Given the description of an element on the screen output the (x, y) to click on. 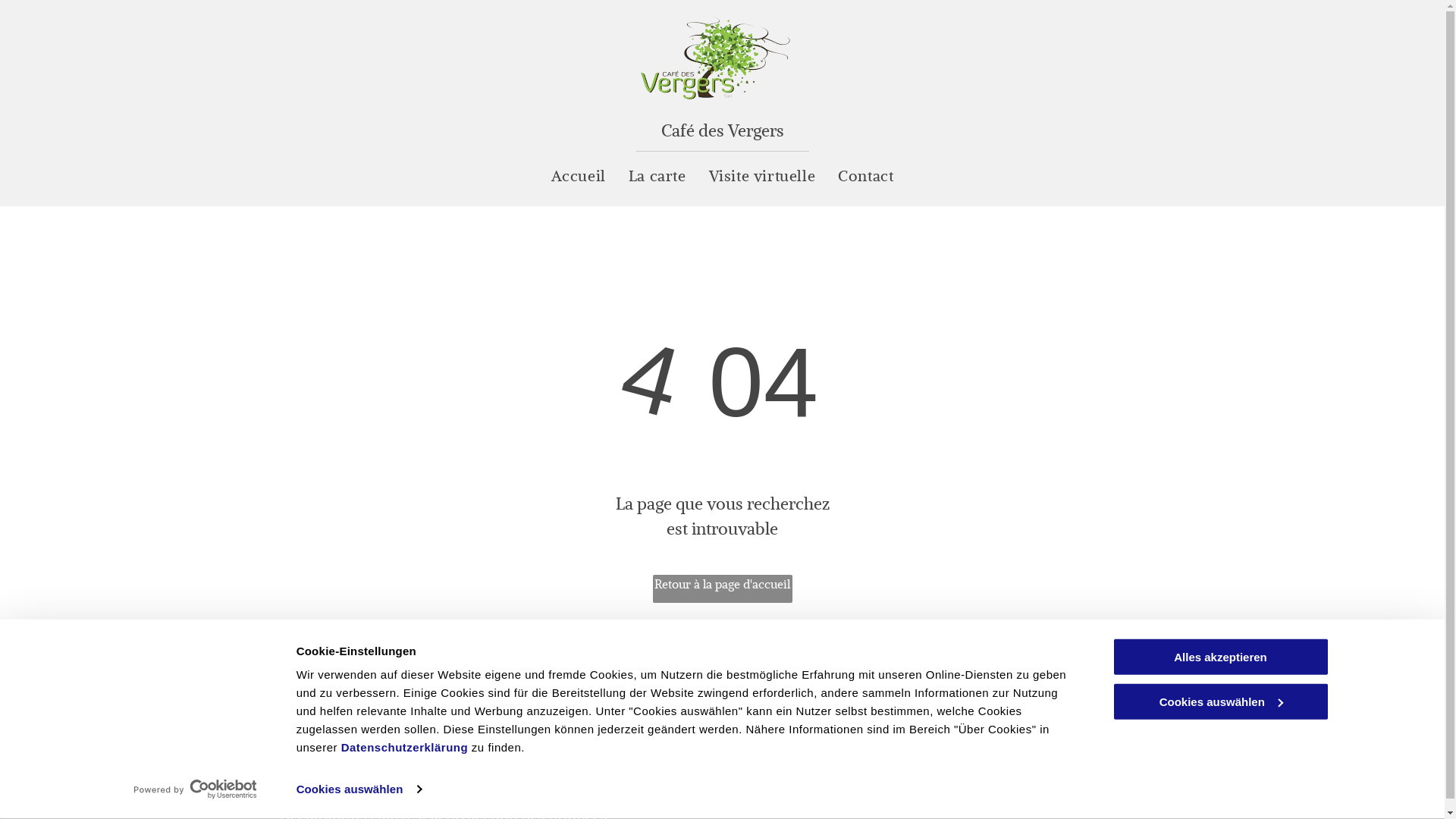
Accueil Element type: text (578, 175)
La carte Element type: text (657, 175)
027 744 16 98 Element type: text (543, 700)
Contact Element type: text (865, 175)
hiro.llop@hotmail.com Element type: text (565, 733)
Visite virtuelle Element type: text (762, 175)
Alles akzeptieren Element type: text (1219, 656)
